Given the description of an element on the screen output the (x, y) to click on. 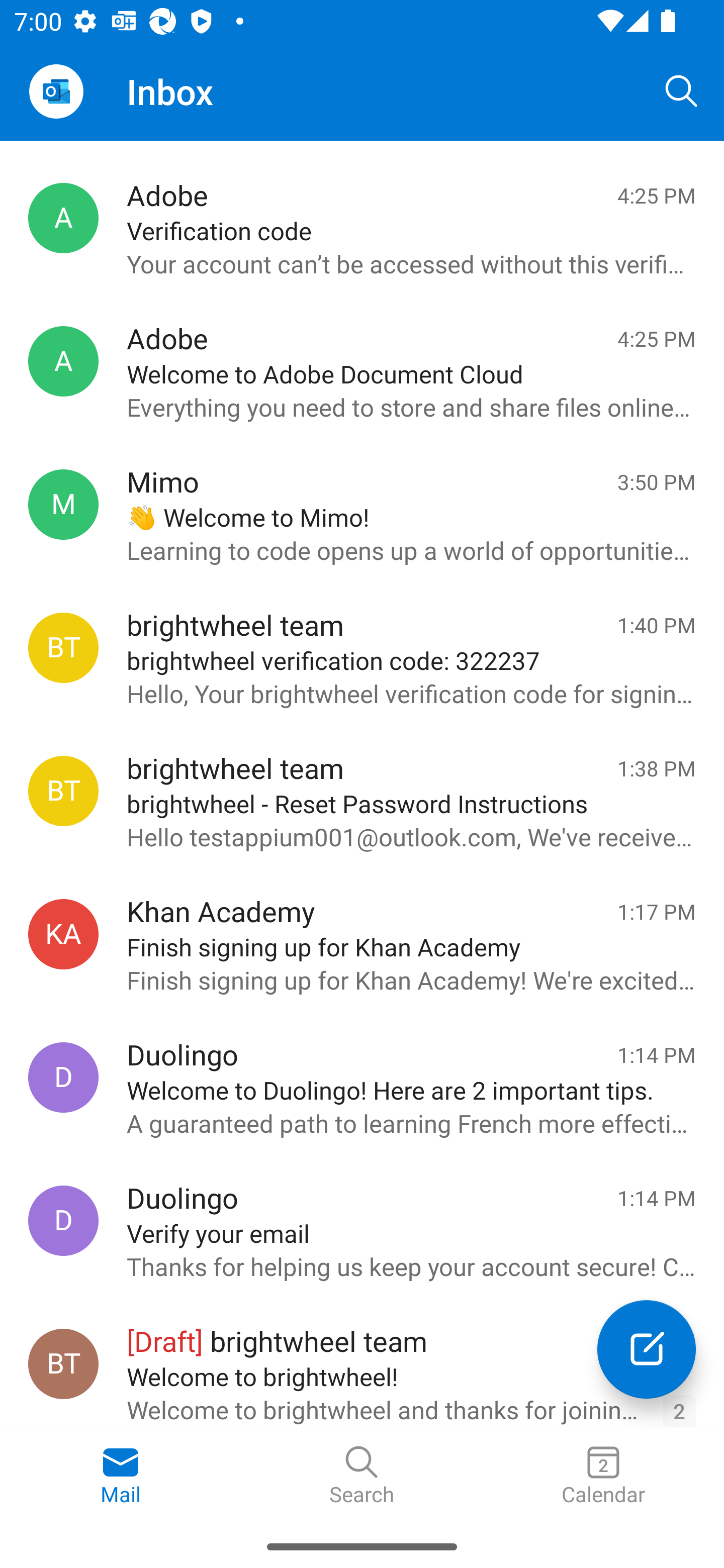
Search (681, 90)
Open Navigation Drawer (55, 91)
Adobe, message@adobe.com (63, 218)
Adobe, message@adobe.com (63, 361)
Mimo, support@getmimo.com (63, 503)
brightwheel team, recovery@mybrightwheel.com (63, 648)
brightwheel team, recovery@mybrightwheel.com (63, 790)
Khan Academy, no-reply@khanacademy.org (63, 933)
Duolingo, hello@duolingo.com (63, 1077)
Duolingo, hello@duolingo.com (63, 1220)
Compose (646, 1348)
brightwheel team, welcome@mybrightwheel.com (63, 1363)
Search (361, 1475)
Calendar (603, 1475)
